Given the description of an element on the screen output the (x, y) to click on. 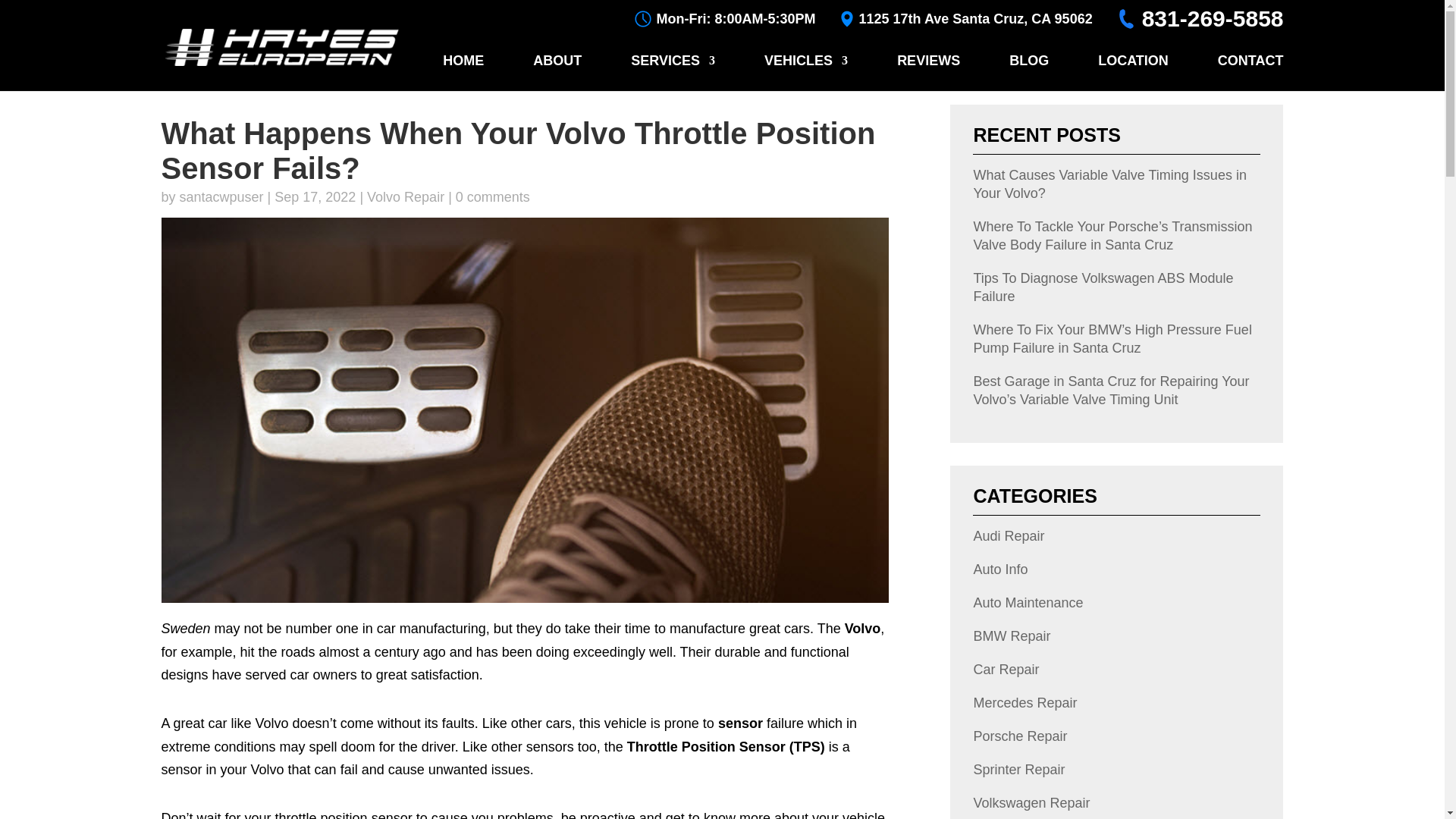
santacwpuser (221, 196)
BLOG (1028, 72)
831-269-5858 (1212, 18)
REVIEWS (927, 72)
0 comments (492, 196)
Posts by santacwpuser (221, 196)
ABOUT (556, 72)
Volvo Repair (405, 196)
CONTACT (1250, 72)
SERVICES (672, 72)
